Given the description of an element on the screen output the (x, y) to click on. 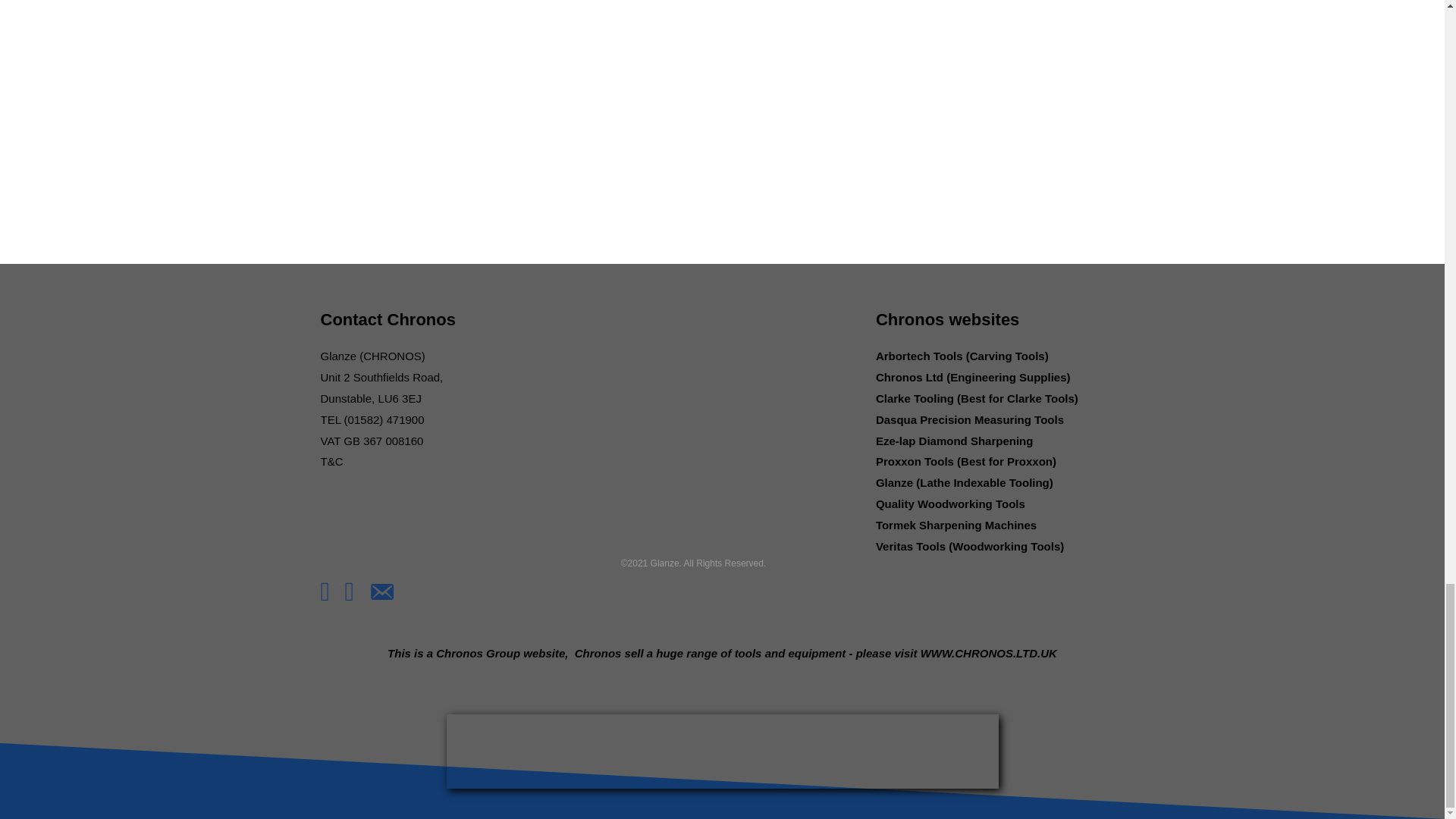
Engineering tools and model engineering supplies (721, 751)
Payments by Sage Pay (415, 524)
